Given the description of an element on the screen output the (x, y) to click on. 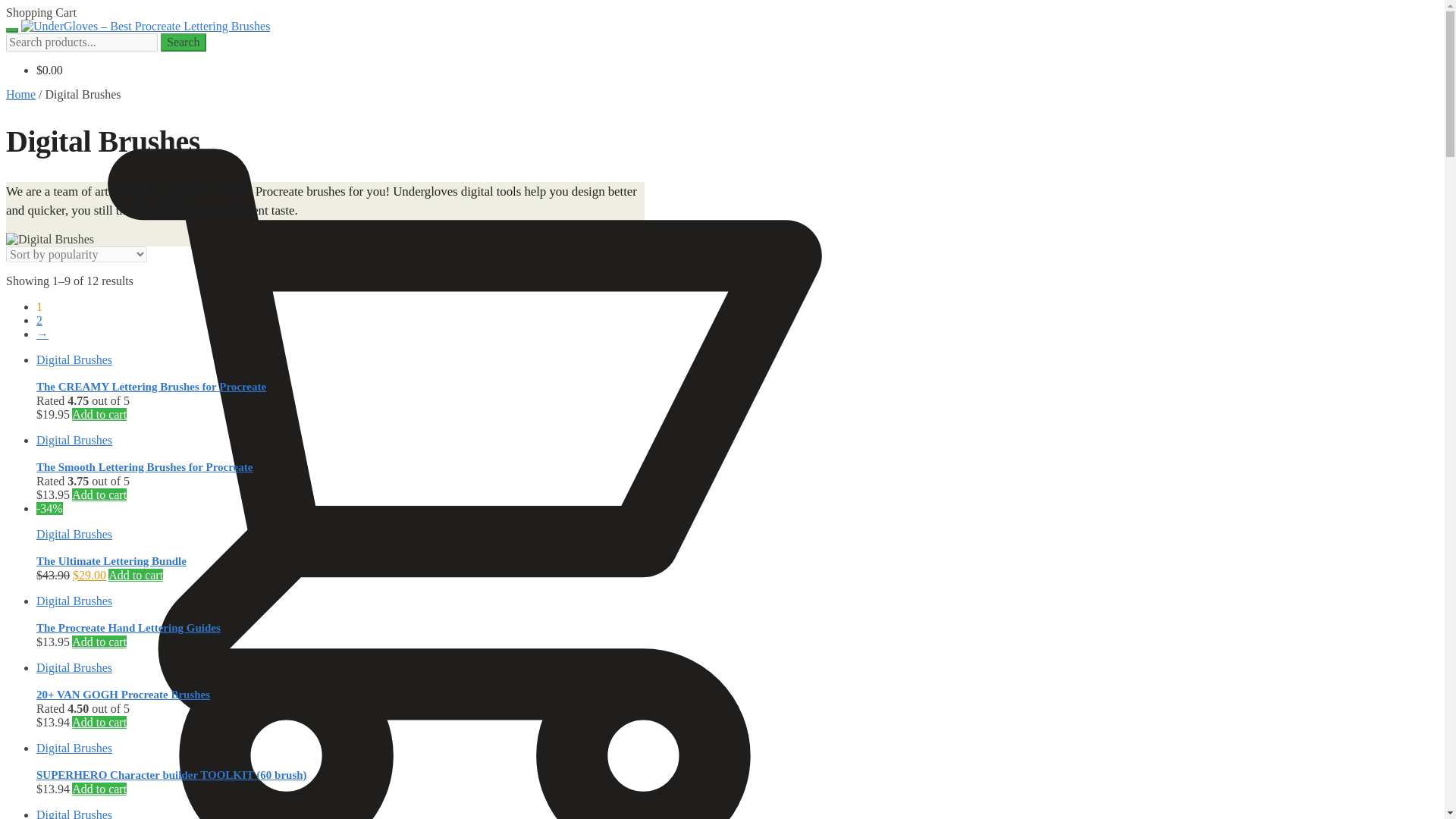
Add to cart (98, 413)
2 (39, 319)
Home (19, 93)
The Smooth Lettering Brushes for Procreate (143, 467)
Search (183, 42)
Digital Brushes (74, 359)
Add to cart (98, 494)
The CREAMY Lettering Brushes for Procreate (151, 386)
Digital Brushes (74, 440)
Digital Brushes (74, 533)
